Given the description of an element on the screen output the (x, y) to click on. 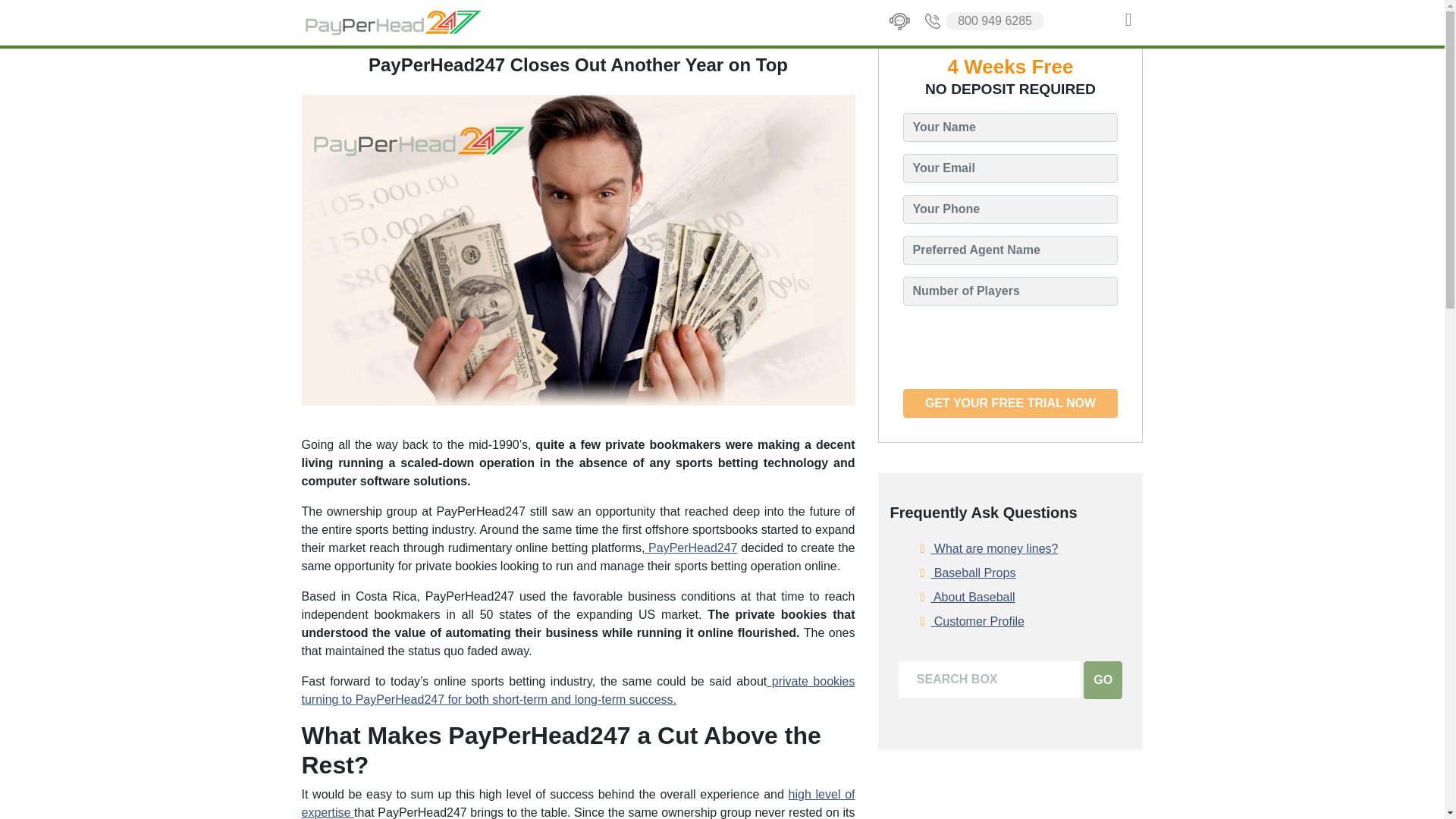
About Baseball (967, 597)
high level of expertise (578, 803)
GET YOUR FREE TRIAL NOW (1010, 403)
What are money lines? (989, 548)
PayPerHead247 (690, 547)
Go (1102, 679)
800 949 6285 (983, 20)
Baseball Props (968, 573)
Customer Profile (972, 621)
Go (1102, 679)
